Given the description of an element on the screen output the (x, y) to click on. 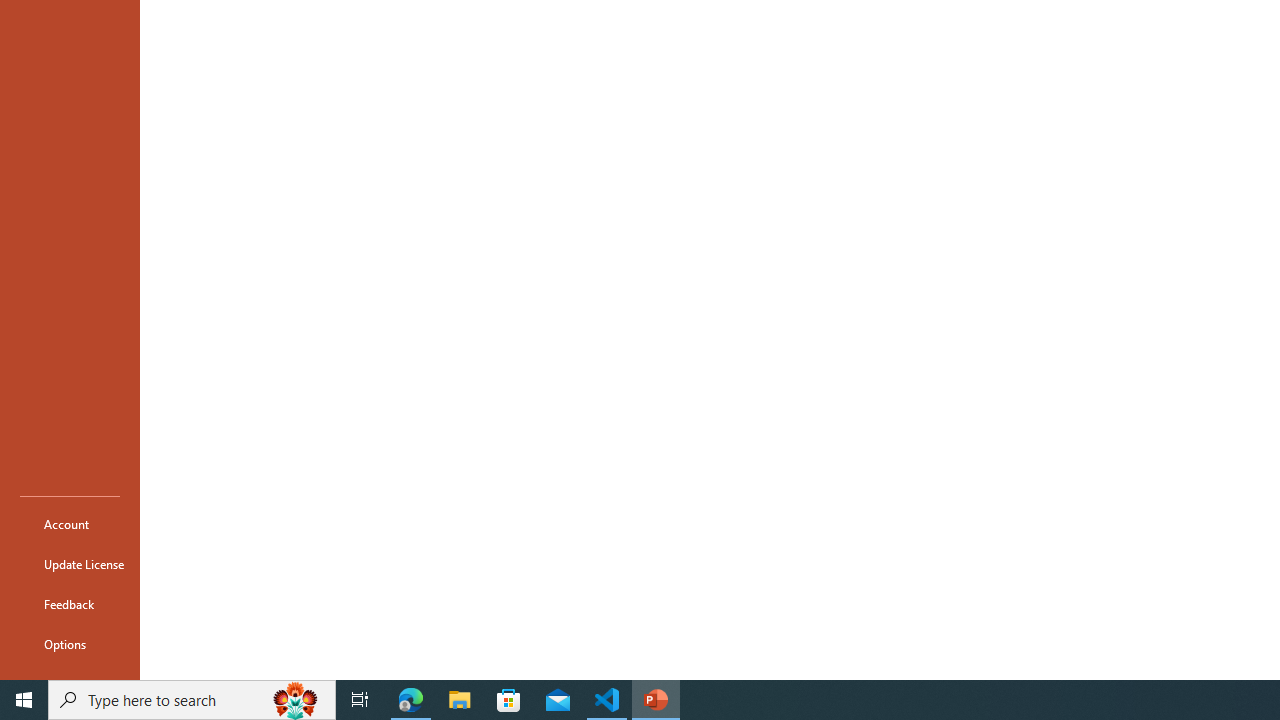
Options (69, 643)
Update License (69, 563)
Account (69, 523)
Feedback (69, 603)
